Given the description of an element on the screen output the (x, y) to click on. 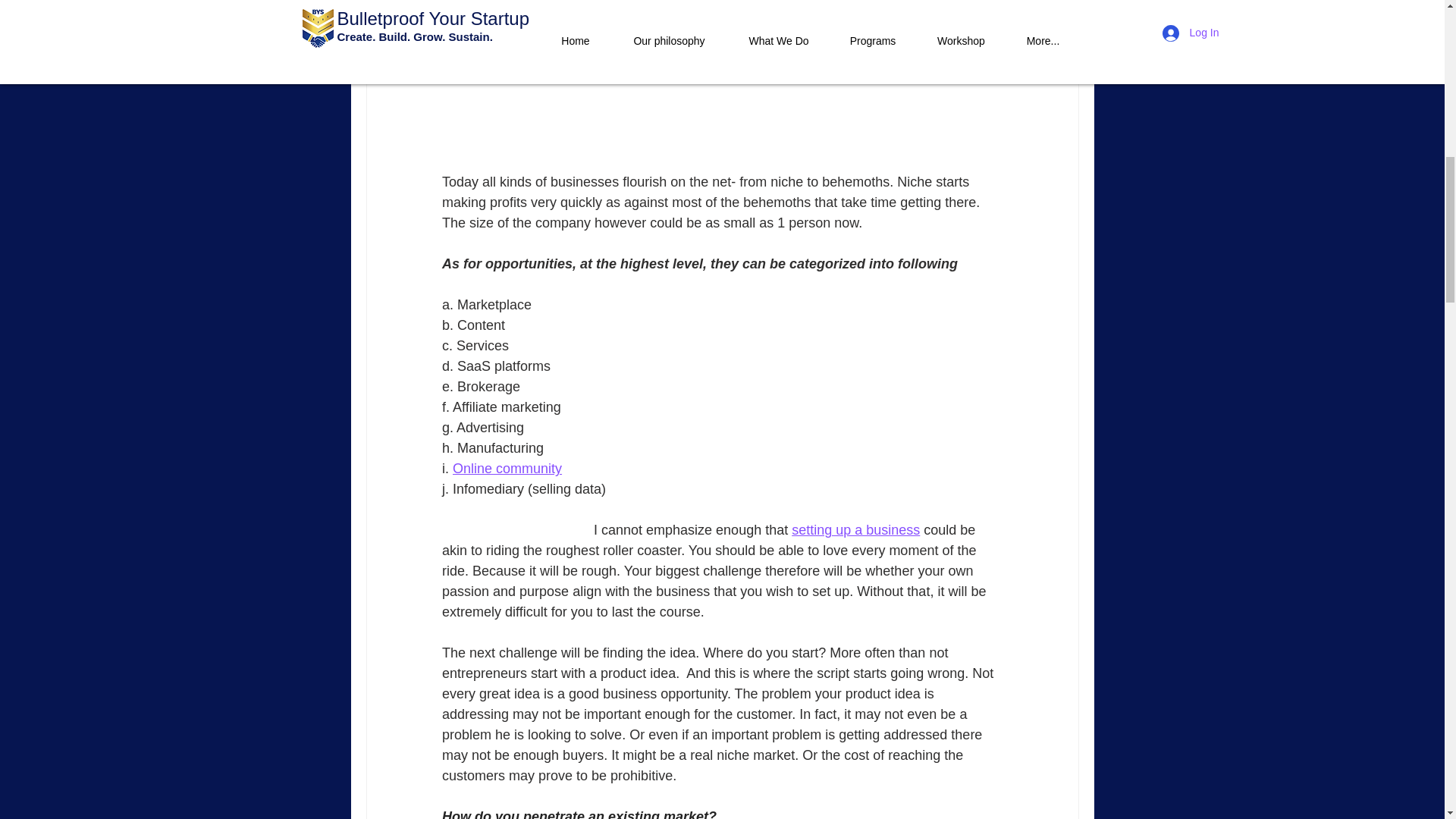
setting up a business (856, 529)
Online community (507, 468)
